Given the description of an element on the screen output the (x, y) to click on. 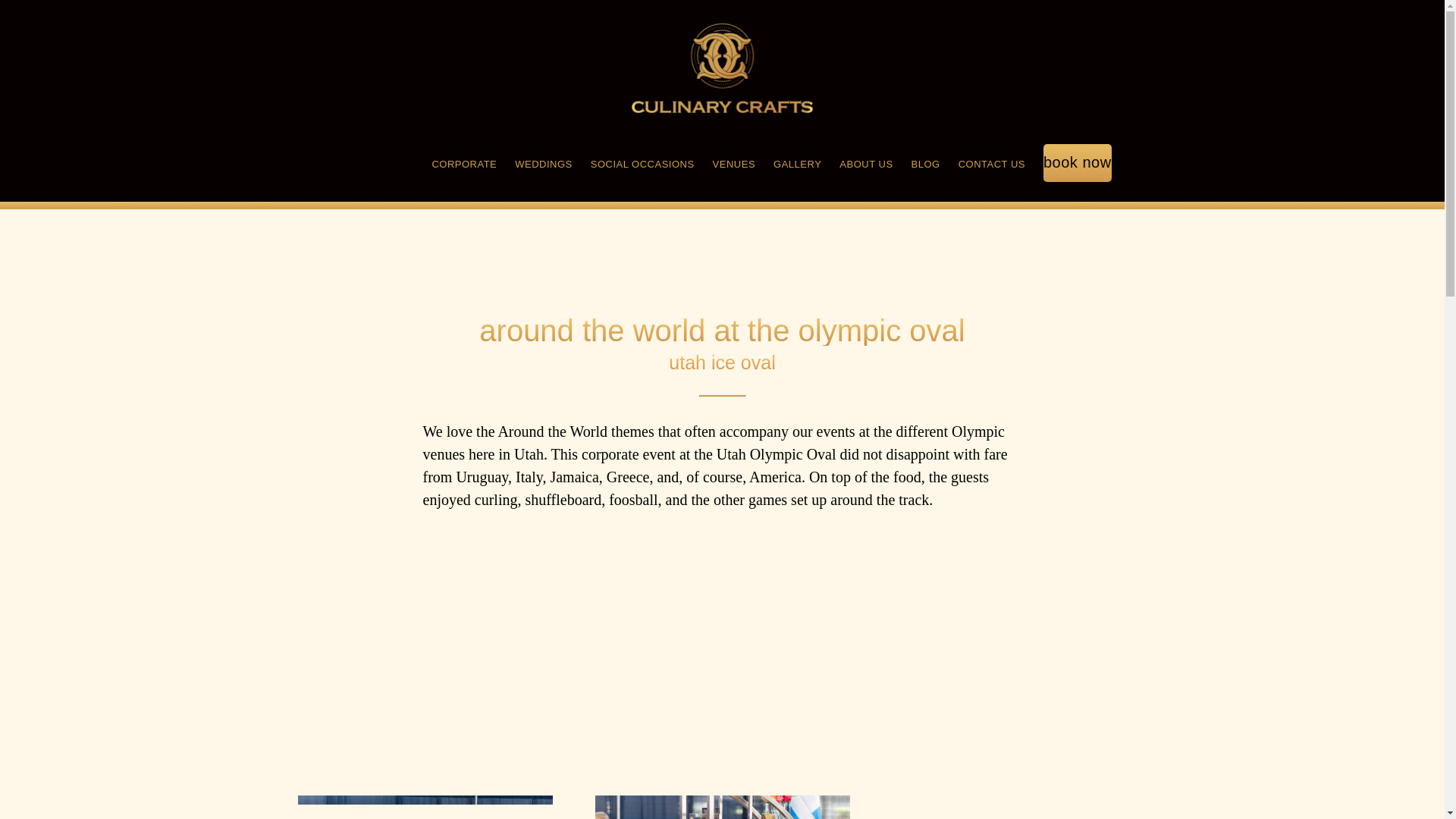
utah ice oval (721, 362)
VENUES (734, 165)
SOCIAL OCCASIONS (642, 165)
book now (1077, 165)
GALLERY (797, 165)
CONTACT US (991, 165)
CORPORATE (463, 165)
ABOUT US (866, 165)
BLOG (925, 165)
WEDDINGS (543, 165)
